Given the description of an element on the screen output the (x, y) to click on. 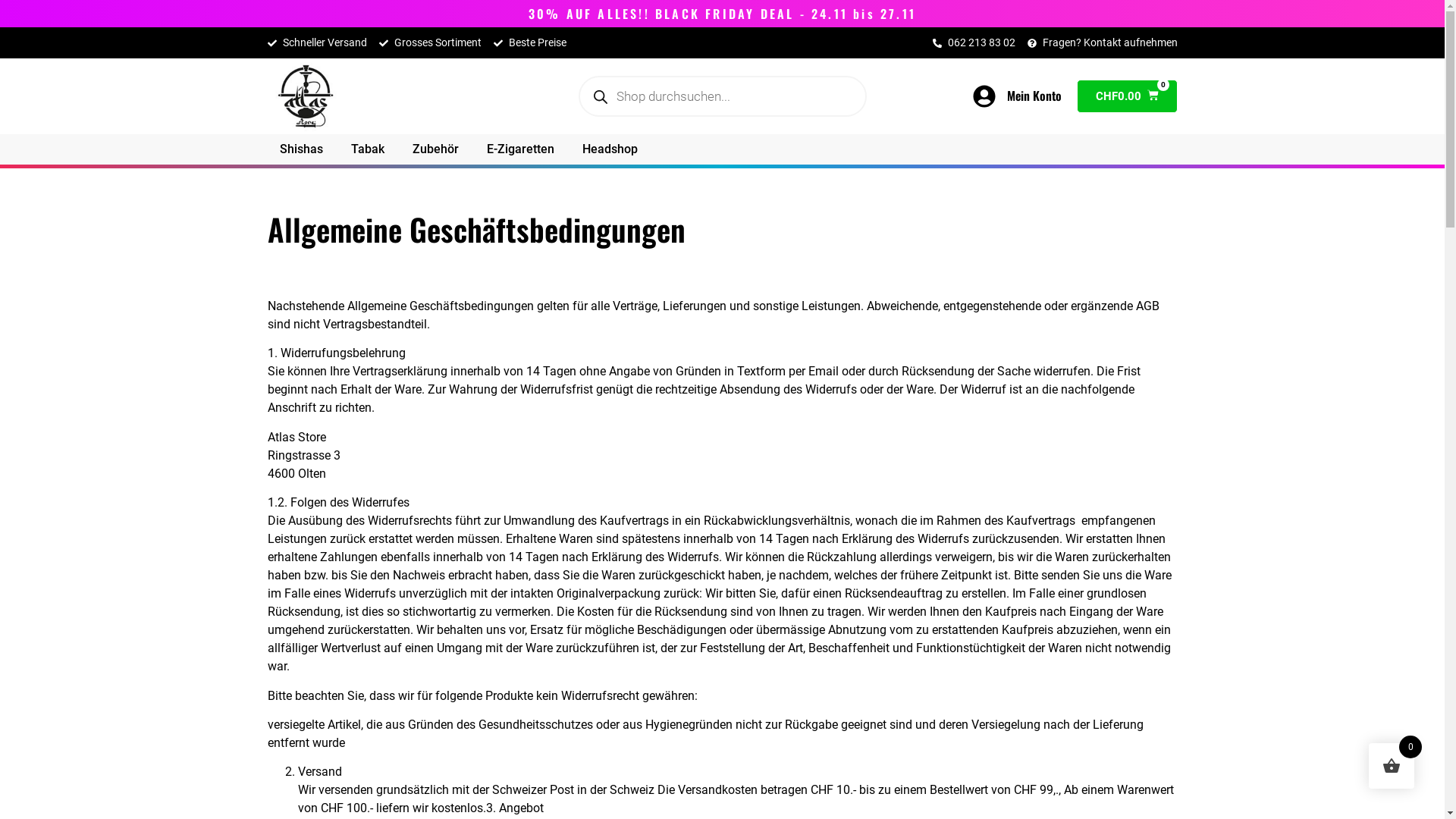
Fragen? Kontakt aufnehmen Element type: text (1101, 42)
062 213 83 02 Element type: text (973, 42)
CHF0.00
0 Element type: text (1126, 95)
Headshop Element type: text (609, 149)
Shishas Element type: text (300, 149)
E-Zigaretten Element type: text (520, 149)
Tabak Element type: text (366, 149)
Mein Konto Element type: text (1034, 95)
